Given the description of an element on the screen output the (x, y) to click on. 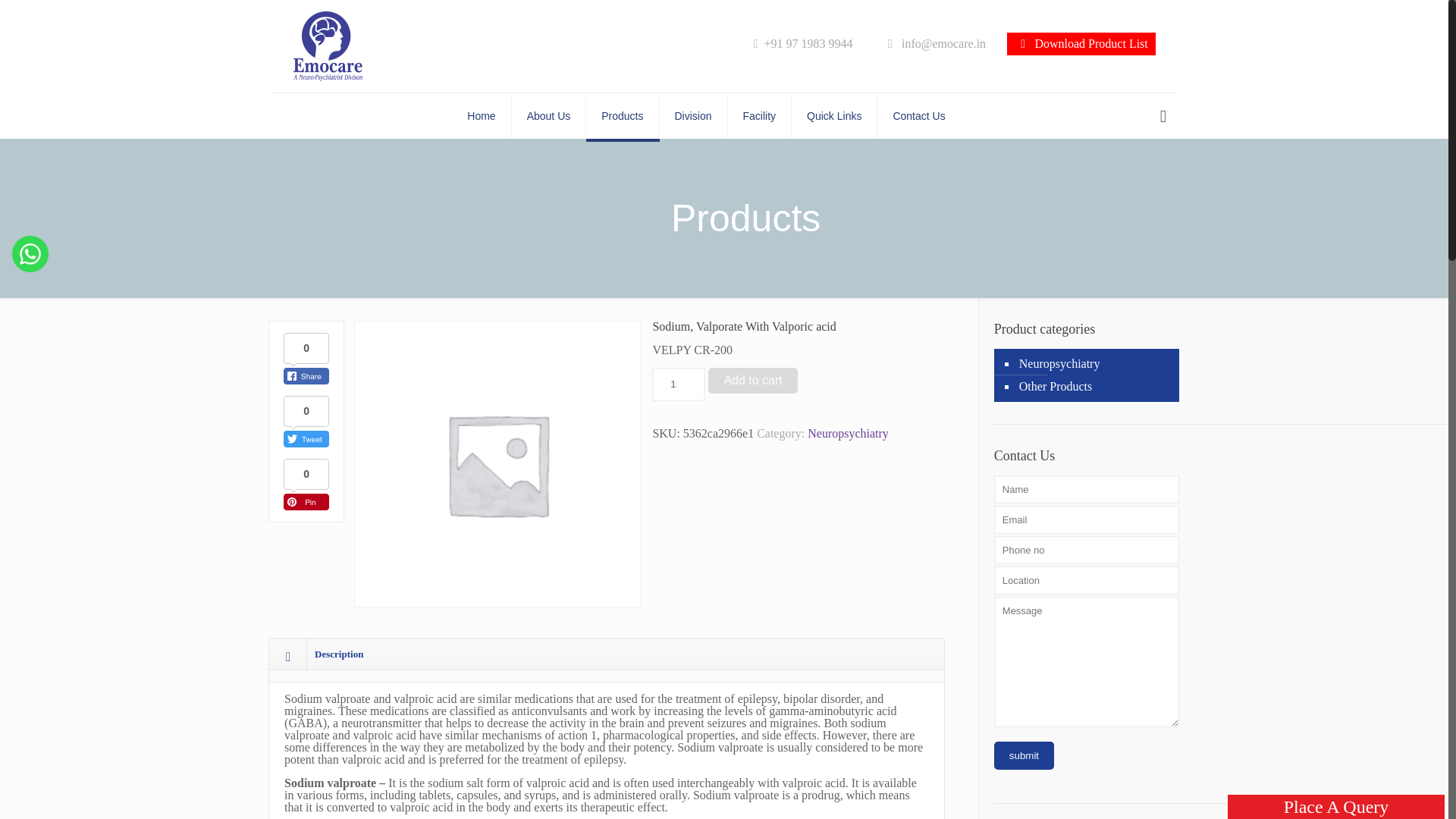
Quick Links (834, 115)
Home (481, 115)
1 (678, 384)
submit (1024, 755)
Facility (760, 115)
Contact Us (918, 115)
Download Product List (1081, 43)
Add to cart (751, 380)
Neuropsychiatry (848, 432)
Products (622, 115)
About Us (549, 115)
Qty (678, 384)
Division (693, 115)
